Given the description of an element on the screen output the (x, y) to click on. 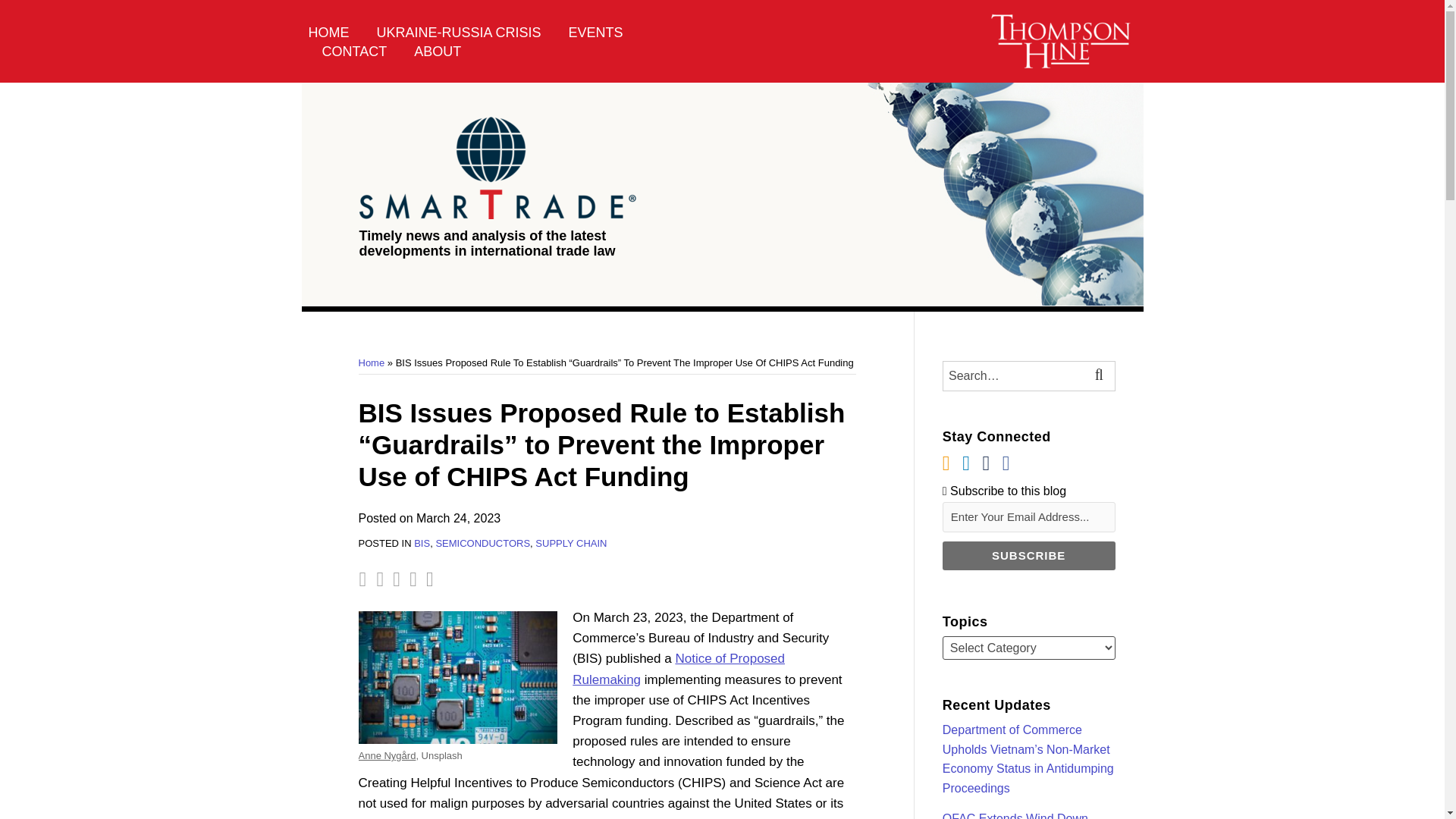
SUPPLY CHAIN (571, 542)
ABOUT (437, 51)
Share this post on LinkedIn (429, 579)
SEMICONDUCTORS (482, 542)
SEARCH (1101, 375)
EVENTS (596, 31)
Subscribe (1028, 555)
BIS (421, 542)
Notice of Proposed Rulemaking (678, 668)
RSS (946, 463)
Like this post (412, 579)
HOME (328, 31)
Home (371, 362)
Tweet this post (396, 579)
Print: (362, 579)
